Given the description of an element on the screen output the (x, y) to click on. 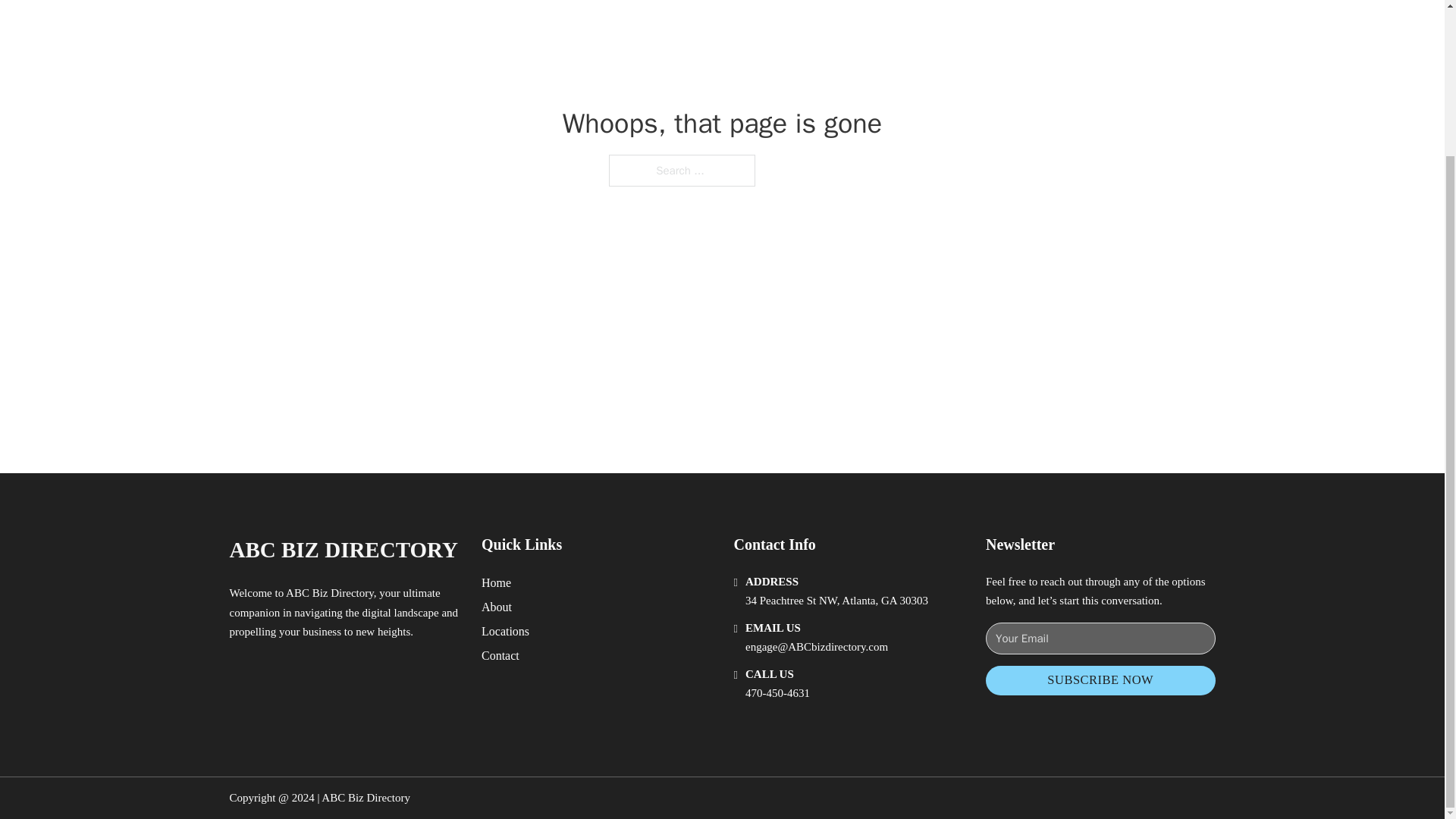
470-450-4631 (777, 693)
Contact (500, 655)
ABC BIZ DIRECTORY (342, 549)
Locations (505, 630)
Home (496, 582)
SUBSCRIBE NOW (1100, 680)
About (496, 607)
